Given the description of an element on the screen output the (x, y) to click on. 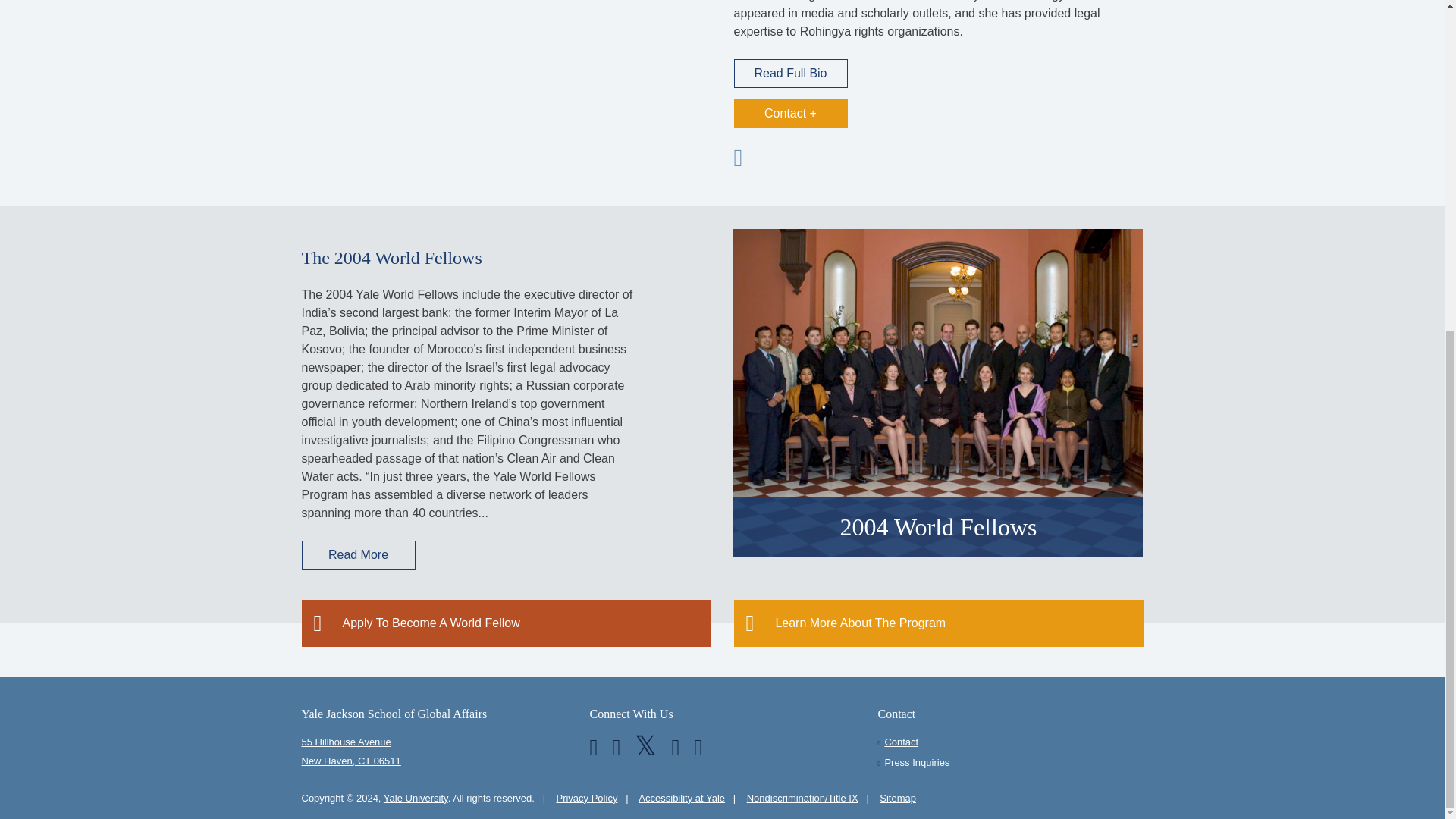
Yale Privacy Policy (586, 797)
Sitemap (897, 797)
Google Maps (434, 751)
Press Inquiries (916, 762)
Contact Us (900, 741)
Contact Katherine G. Southwick (790, 113)
View World Fellows Class of 2004 (937, 391)
